Given the description of an element on the screen output the (x, y) to click on. 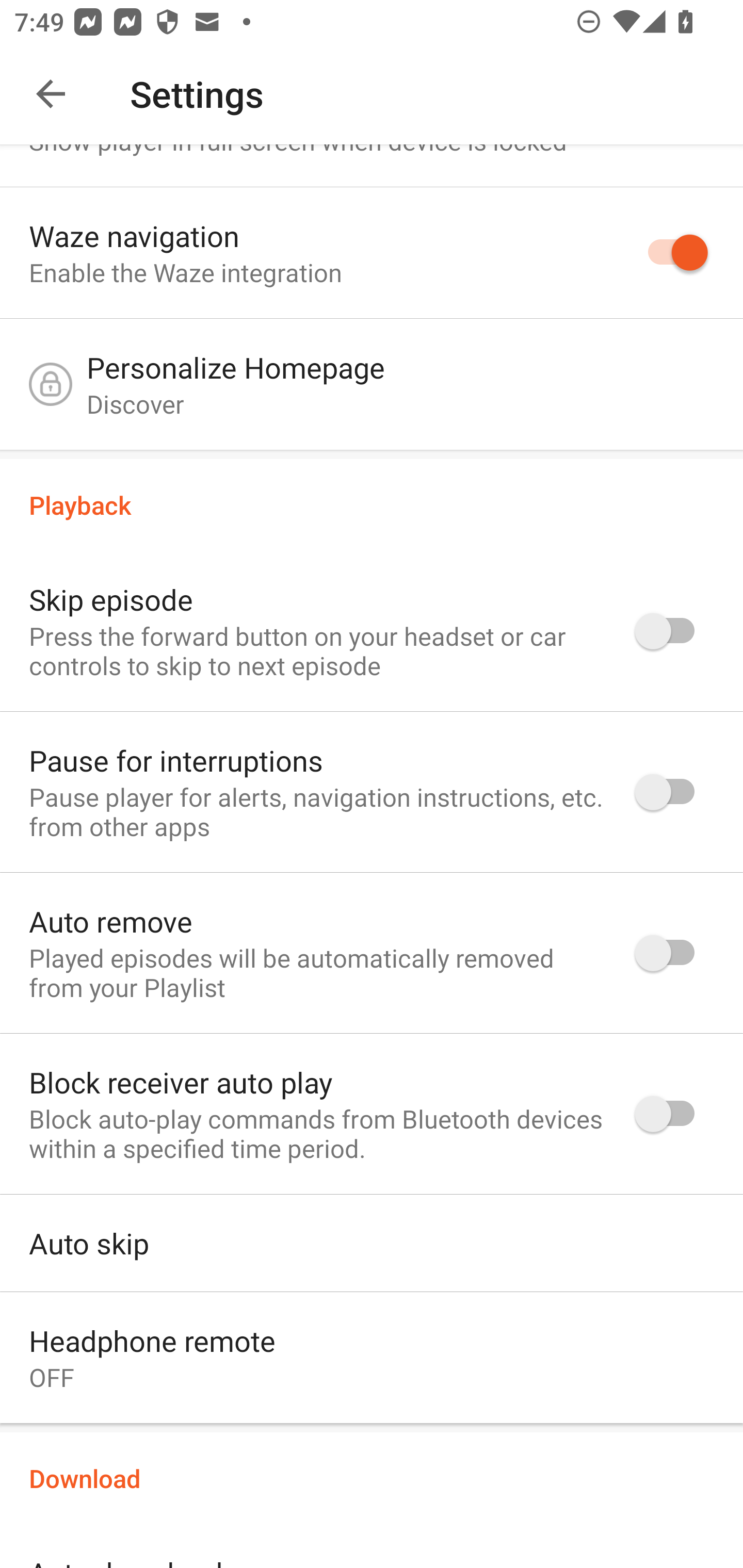
Navigate up (50, 93)
Waze navigation Enable the Waze integration (371, 252)
Personalize Homepage Discover (371, 388)
Auto skip (371, 1243)
Headphone remote OFF (371, 1361)
